Given the description of an element on the screen output the (x, y) to click on. 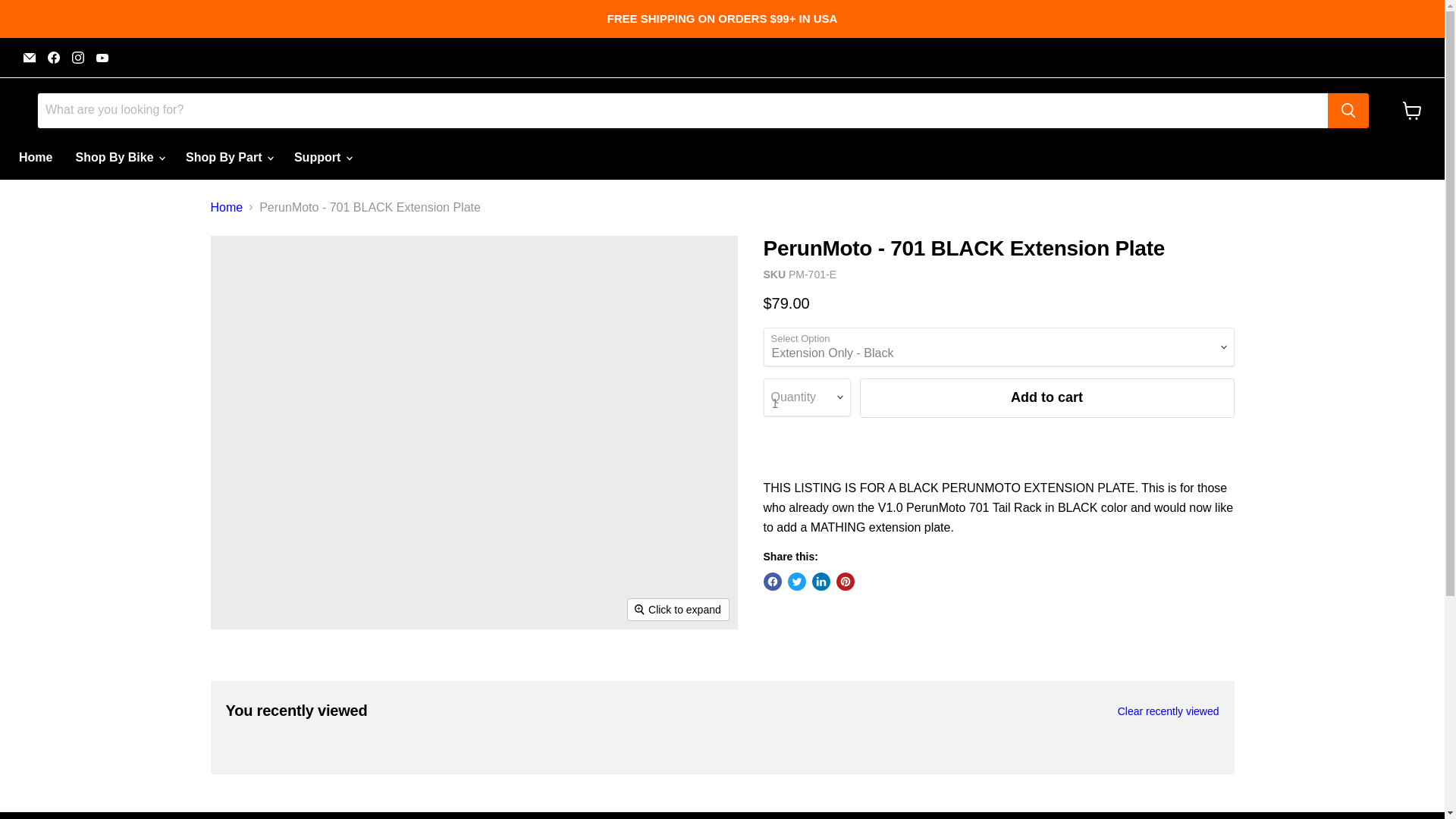
Find us on YouTube (102, 56)
YouTube (102, 56)
Home (35, 156)
Email (29, 56)
Find us on Instagram (77, 56)
Find us on Facebook (53, 56)
Instagram (77, 56)
Facebook (53, 56)
View cart (1411, 110)
Email Vanasche Motorsports (29, 56)
